Given the description of an element on the screen output the (x, y) to click on. 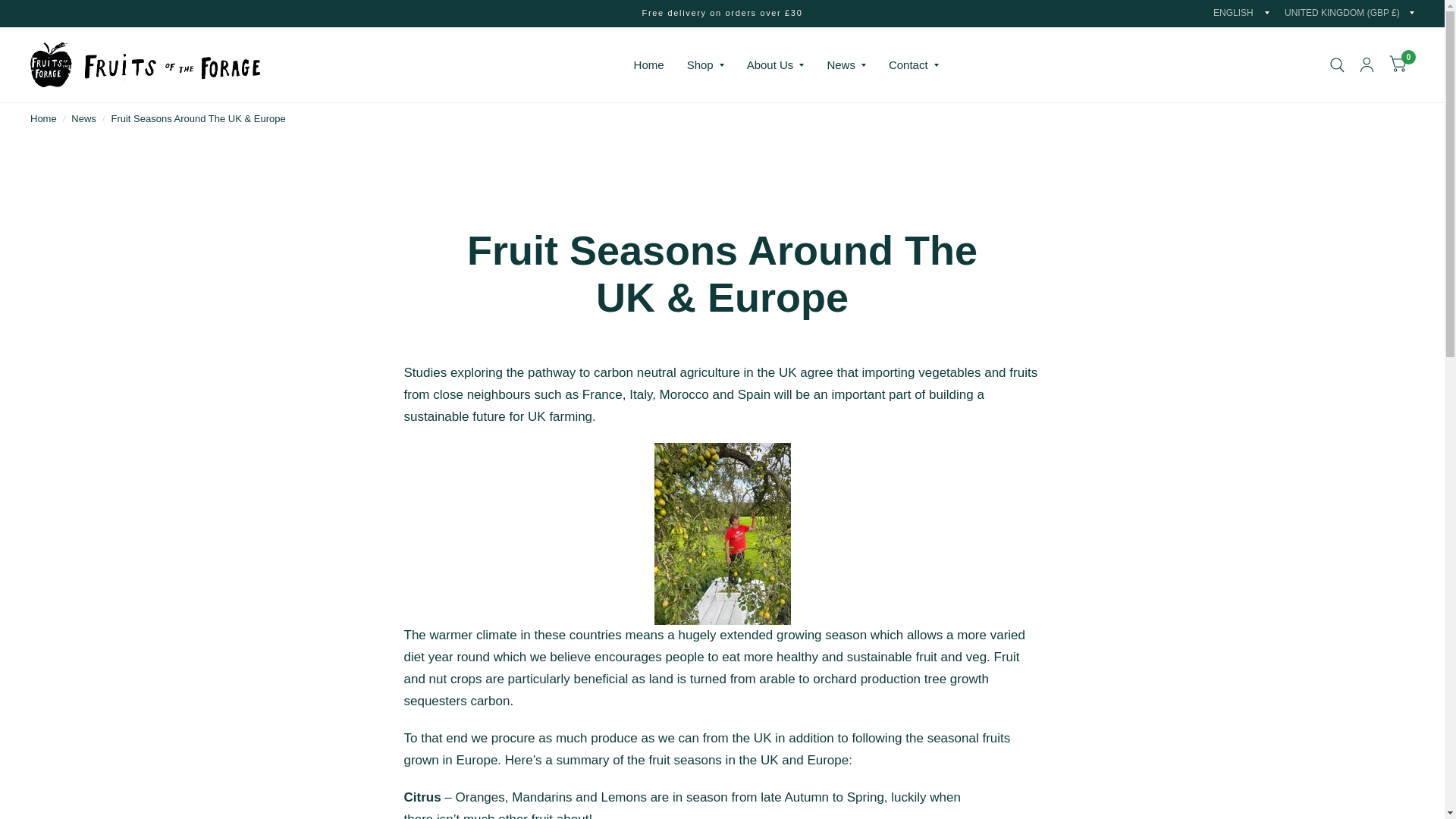
News (846, 64)
About Us (775, 64)
Shop (705, 64)
